Given the description of an element on the screen output the (x, y) to click on. 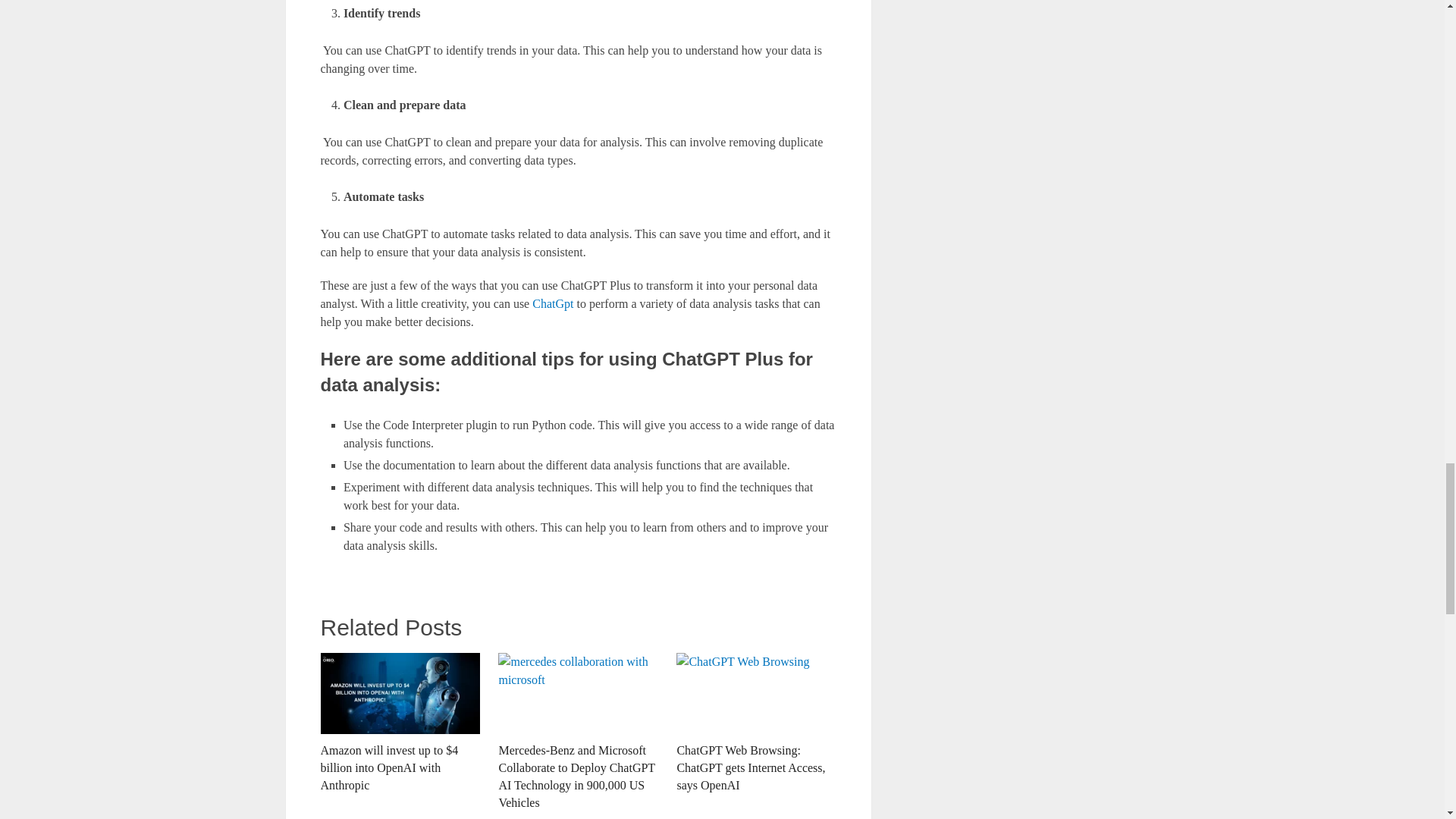
ChatGpt (552, 303)
